Given the description of an element on the screen output the (x, y) to click on. 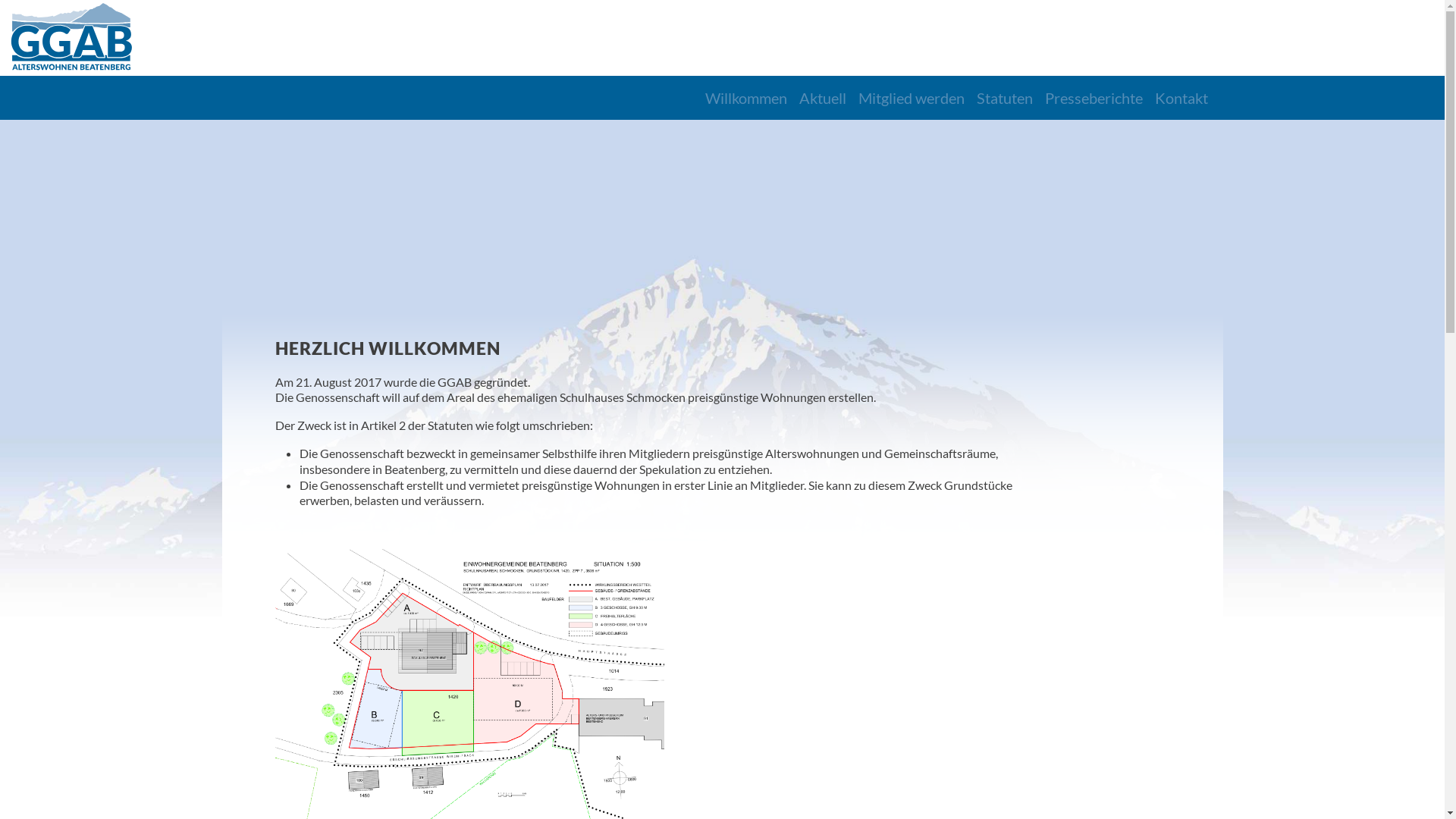
Kontakt Element type: text (1180, 97)
Aktuell Element type: text (822, 97)
Mitglied werden Element type: text (911, 97)
Willkommen Element type: text (746, 97)
Presseberichte Element type: text (1093, 97)
Statuten Element type: text (1004, 97)
